Given the description of an element on the screen output the (x, y) to click on. 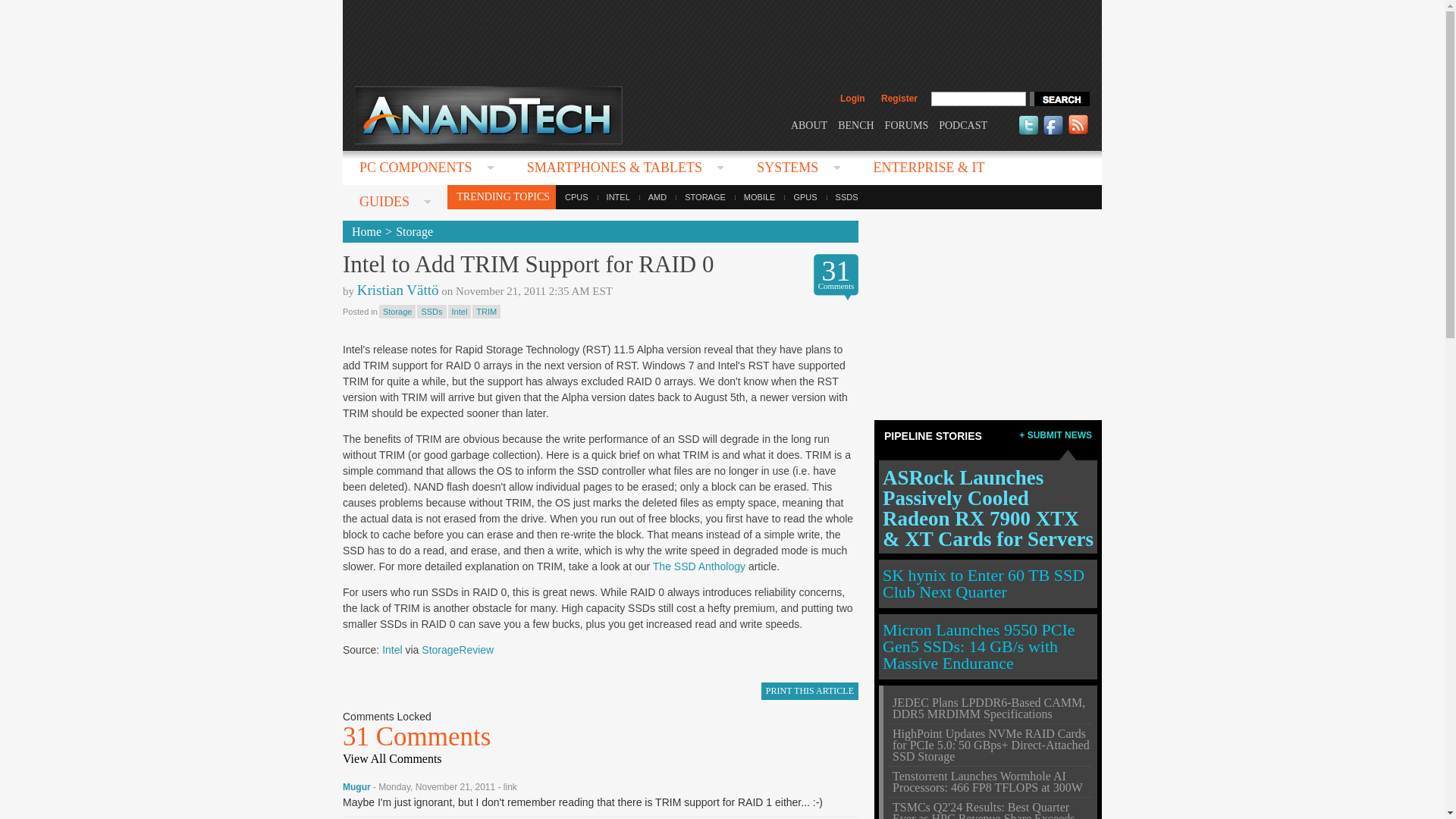
BENCH (855, 125)
search (1059, 98)
search (1059, 98)
PODCAST (963, 125)
Login (852, 98)
FORUMS (906, 125)
search (1059, 98)
Register (898, 98)
ABOUT (808, 125)
